Given the description of an element on the screen output the (x, y) to click on. 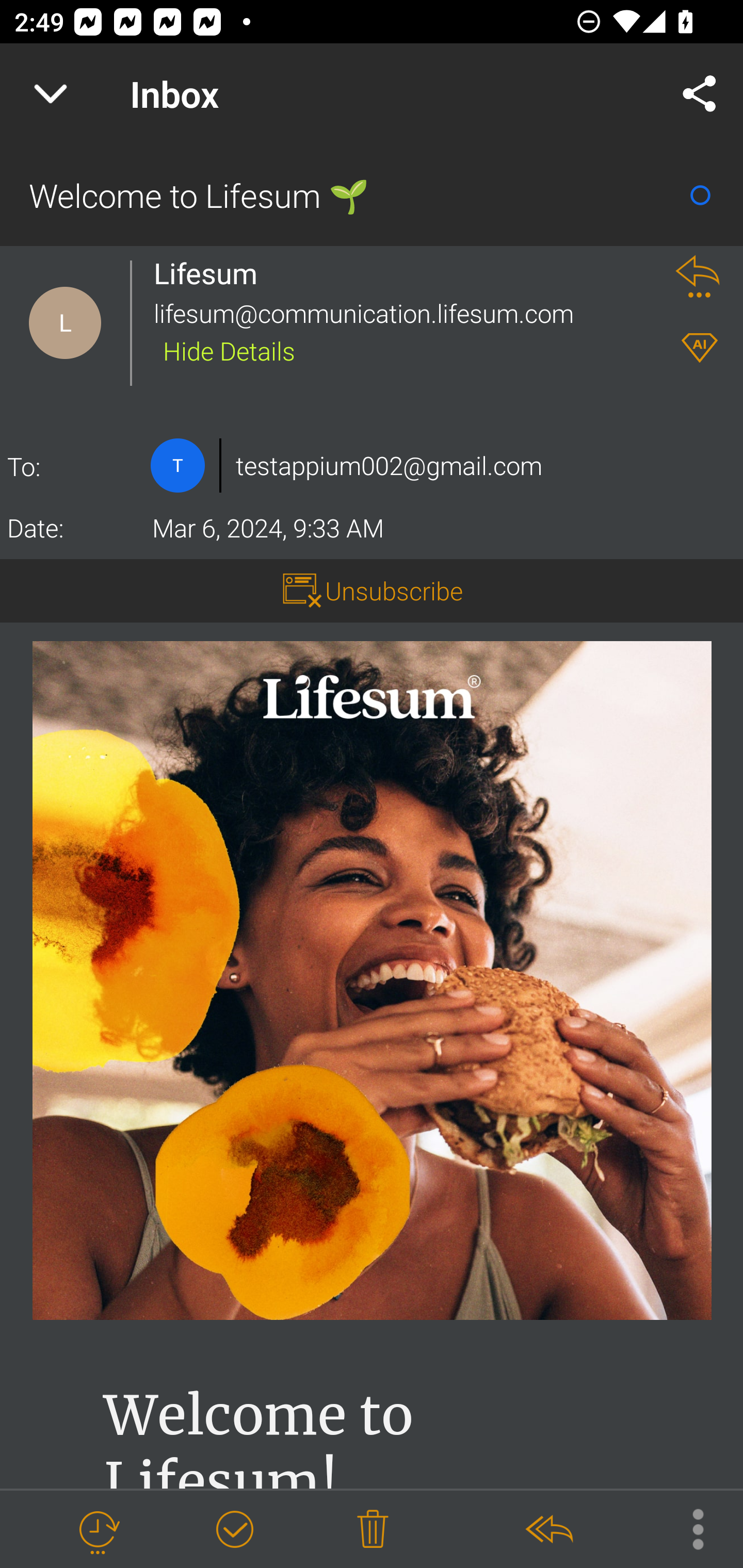
Navigate up (50, 93)
Share (699, 93)
Mark as Read (699, 194)
Lifesum (210, 273)
Contact Details (64, 322)
Hide Details (228, 349)
Contact Details (177, 465)
testappium002@gmail.com (388, 465)
Unsubscribe (393, 590)
More Options (687, 1528)
Snooze (97, 1529)
Mark as Done (234, 1529)
Delete (372, 1529)
Reply All (548, 1529)
